Given the description of an element on the screen output the (x, y) to click on. 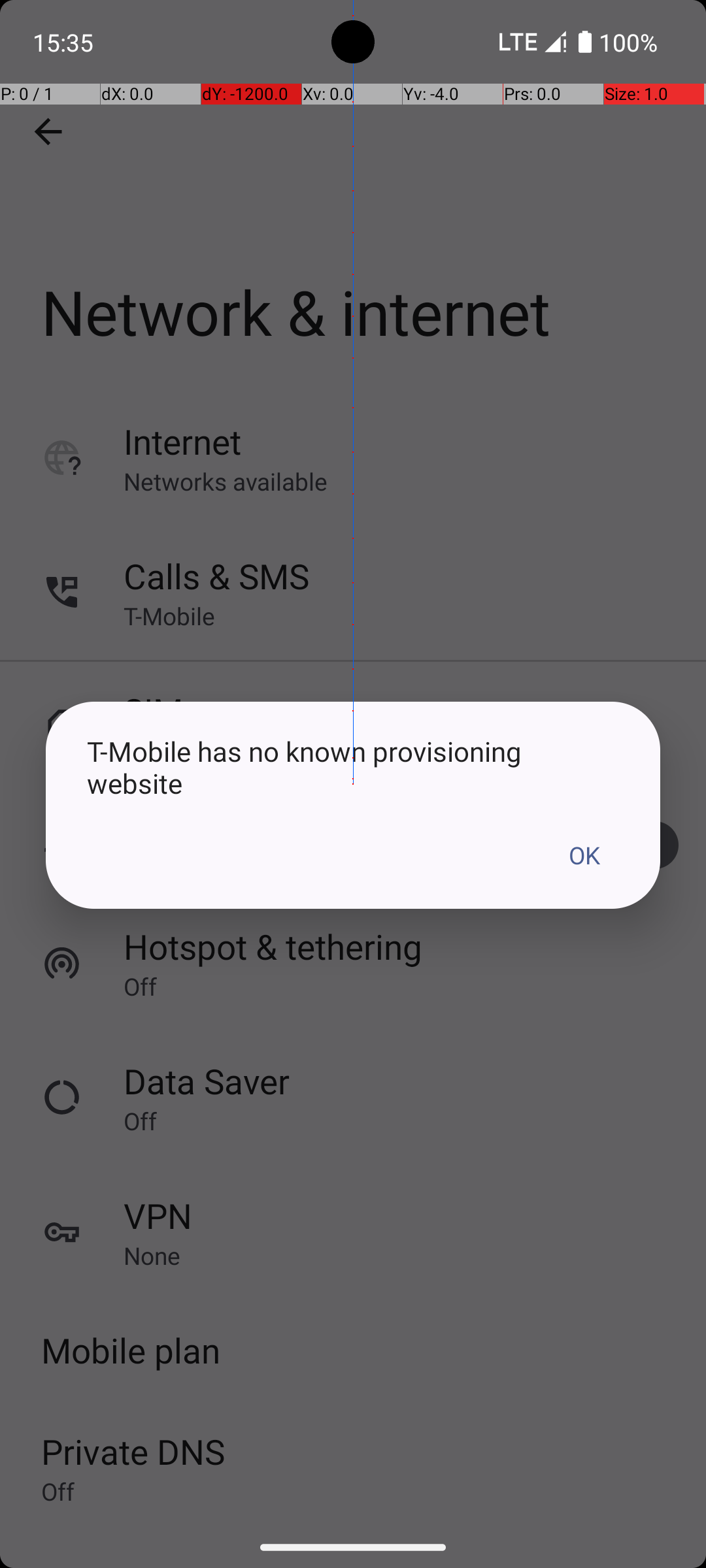
T-Mobile has no known provisioning website Element type: android.widget.TextView (352, 766)
